Given the description of an element on the screen output the (x, y) to click on. 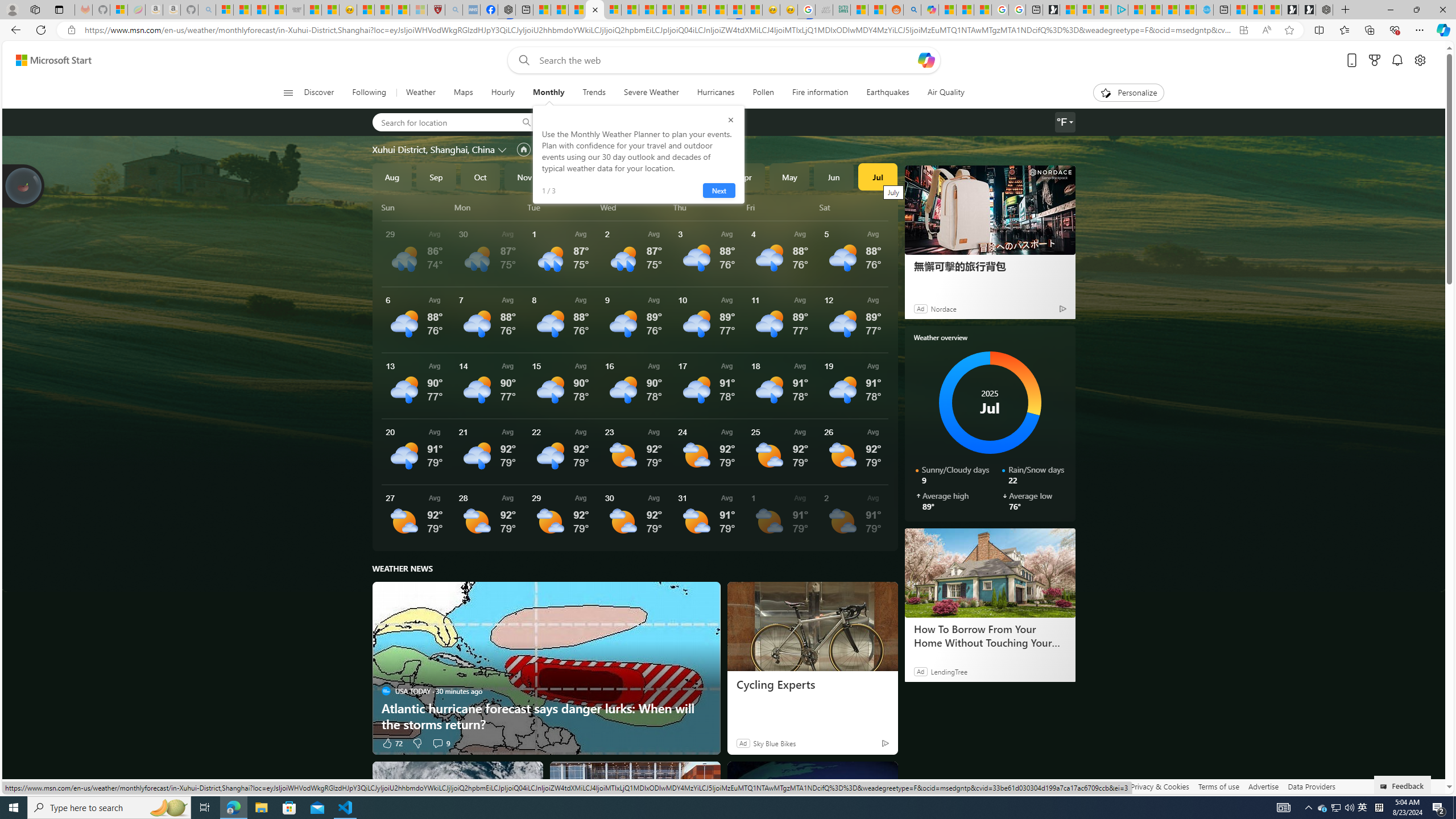
Trends (593, 92)
Severe Weather (651, 92)
Aberdeen (581, 121)
Cycling Experts (812, 684)
Maps (462, 92)
